Given the description of an element on the screen output the (x, y) to click on. 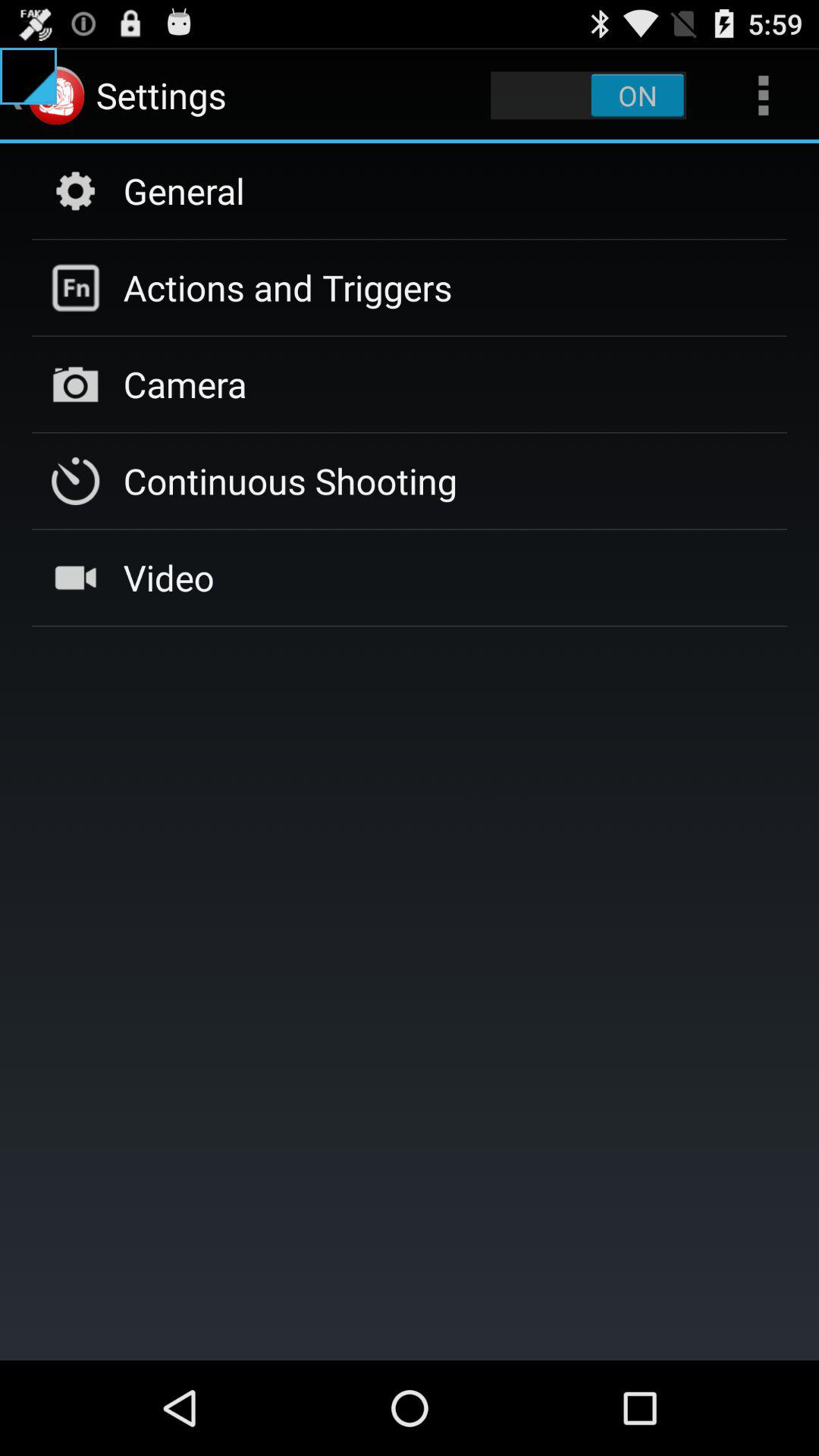
scroll to video (168, 577)
